Given the description of an element on the screen output the (x, y) to click on. 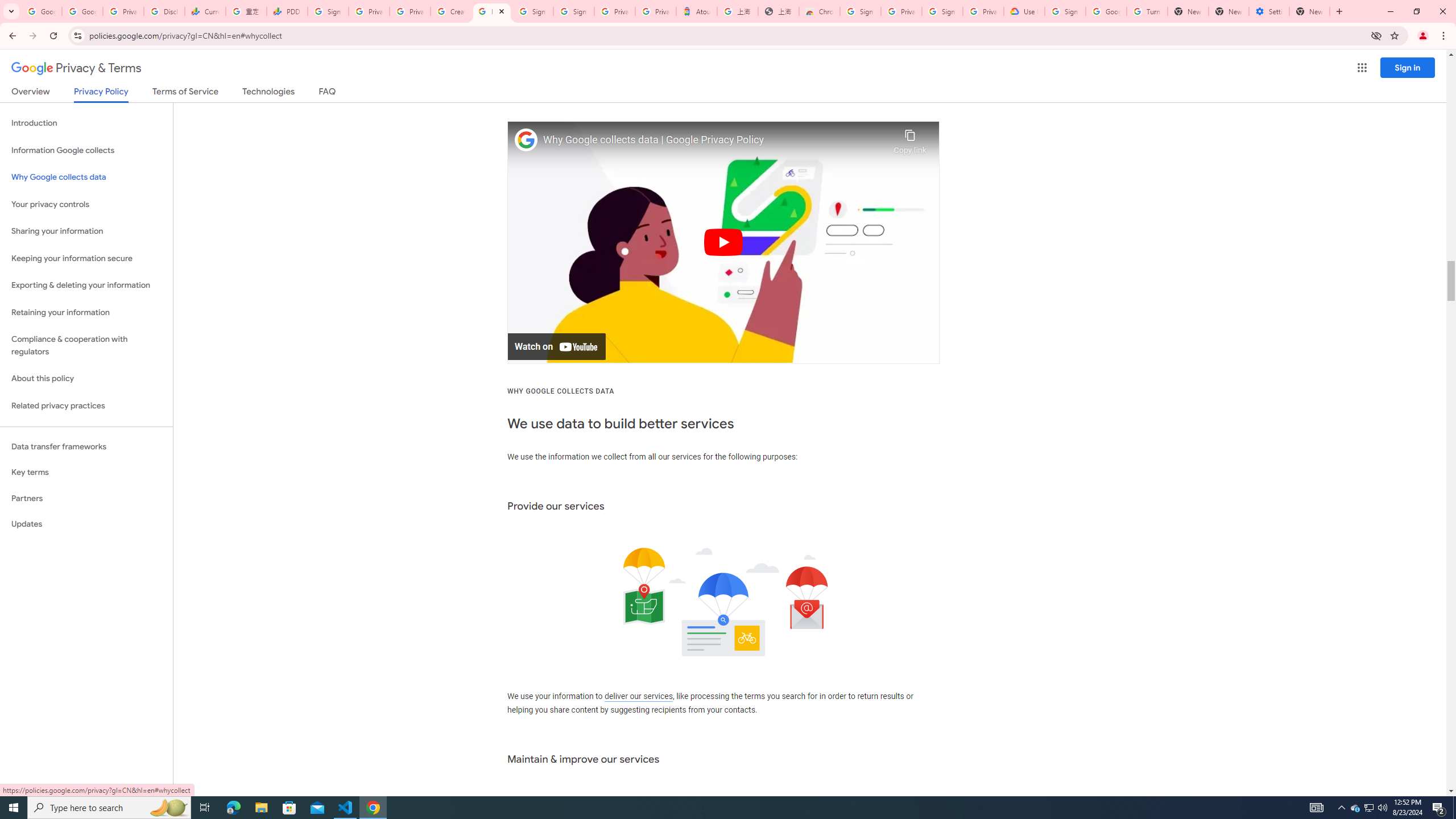
Keeping your information secure (86, 258)
PDD Holdings Inc - ADR (PDD) Price & News - Google Finance (287, 11)
Exporting & deleting your information (86, 284)
Atour Hotel - Google hotels (696, 11)
Sign in - Google Accounts (860, 11)
Why Google collects data (86, 176)
Watch on YouTube (556, 346)
